Given the description of an element on the screen output the (x, y) to click on. 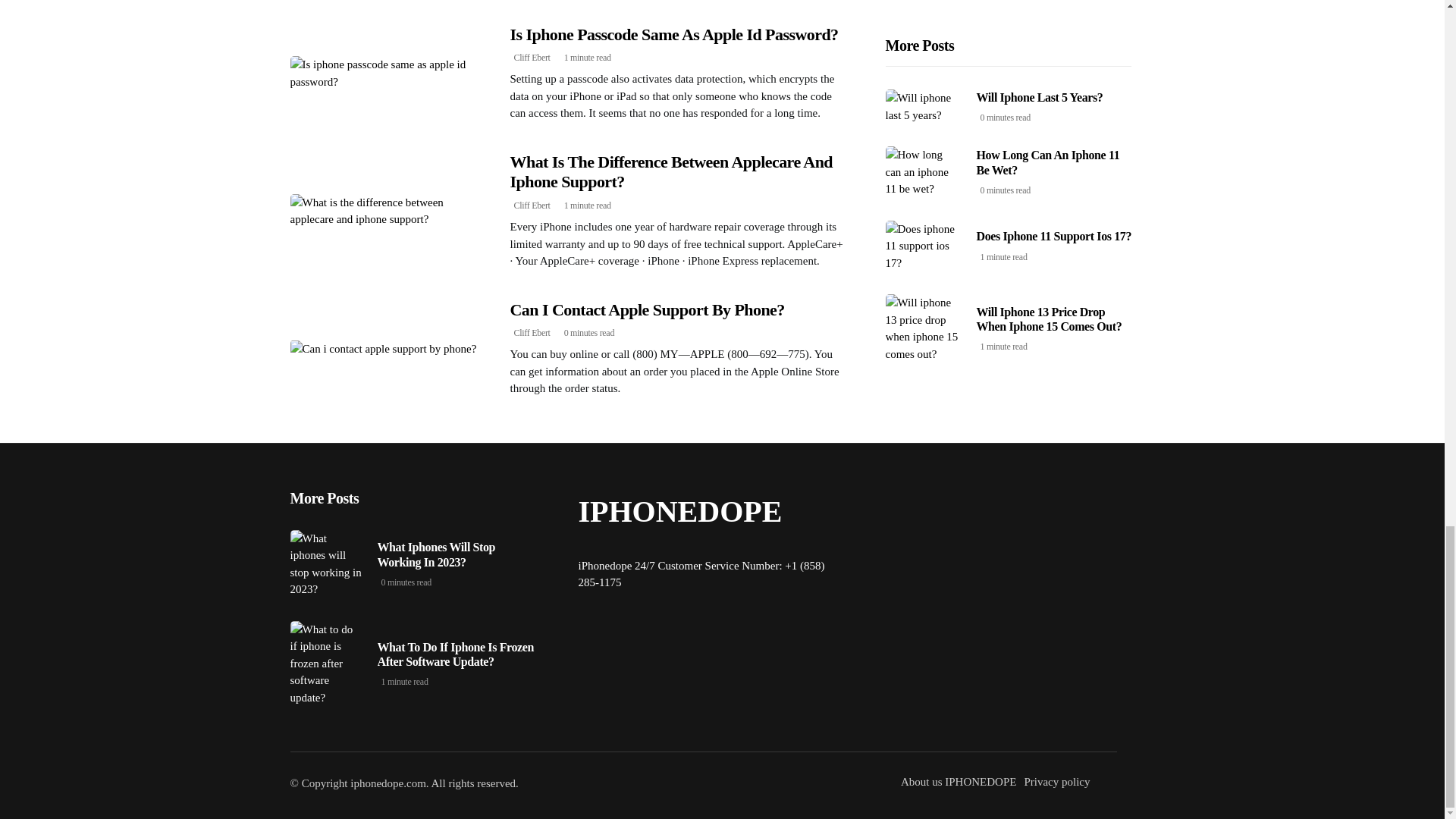
Posts by Cliff Ebert (531, 332)
What Is The Difference Between Applecare And Iphone Support? (670, 171)
Posts by Cliff Ebert (531, 57)
Cliff Ebert (531, 57)
Cliff Ebert (531, 332)
Cliff Ebert (531, 204)
Is Iphone Passcode Same As Apple Id Password? (673, 34)
Posts by Cliff Ebert (531, 204)
Can I Contact Apple Support By Phone? (646, 309)
